Given the description of an element on the screen output the (x, y) to click on. 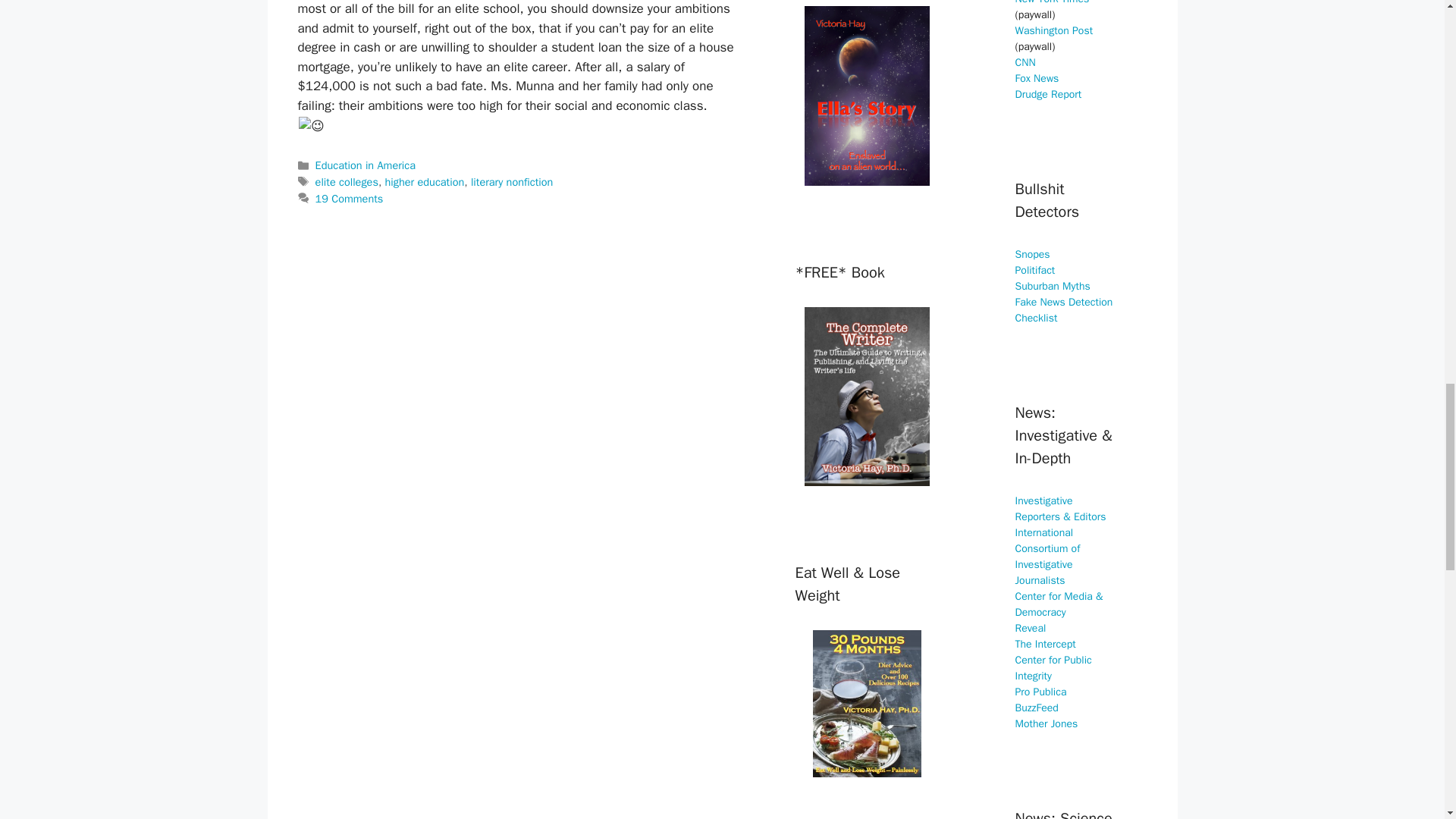
higher education (424, 182)
Education in America (364, 164)
elite colleges (346, 182)
19 Comments (349, 198)
literary nonfiction (511, 182)
